Given the description of an element on the screen output the (x, y) to click on. 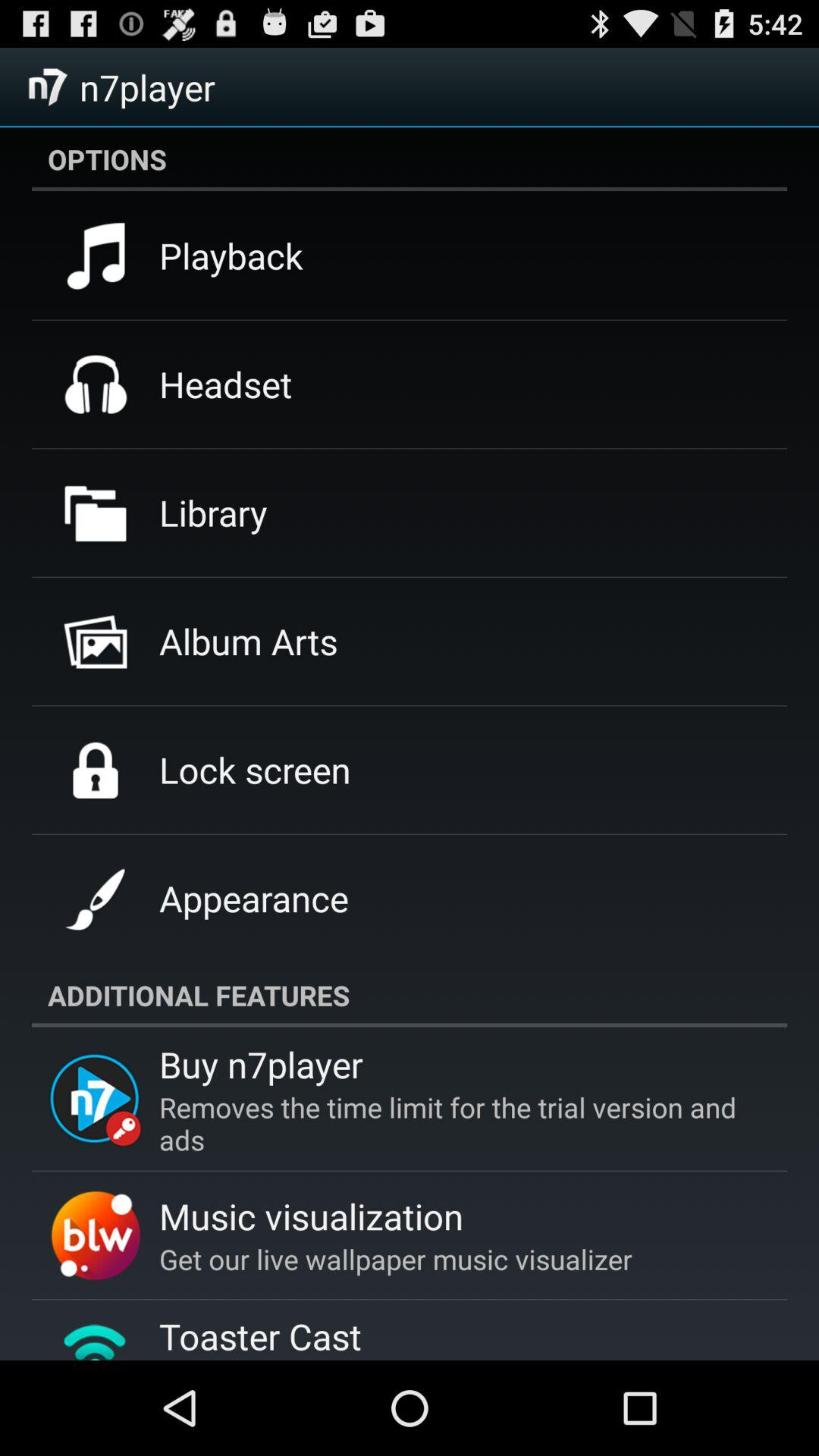
select the get our live (395, 1258)
